Given the description of an element on the screen output the (x, y) to click on. 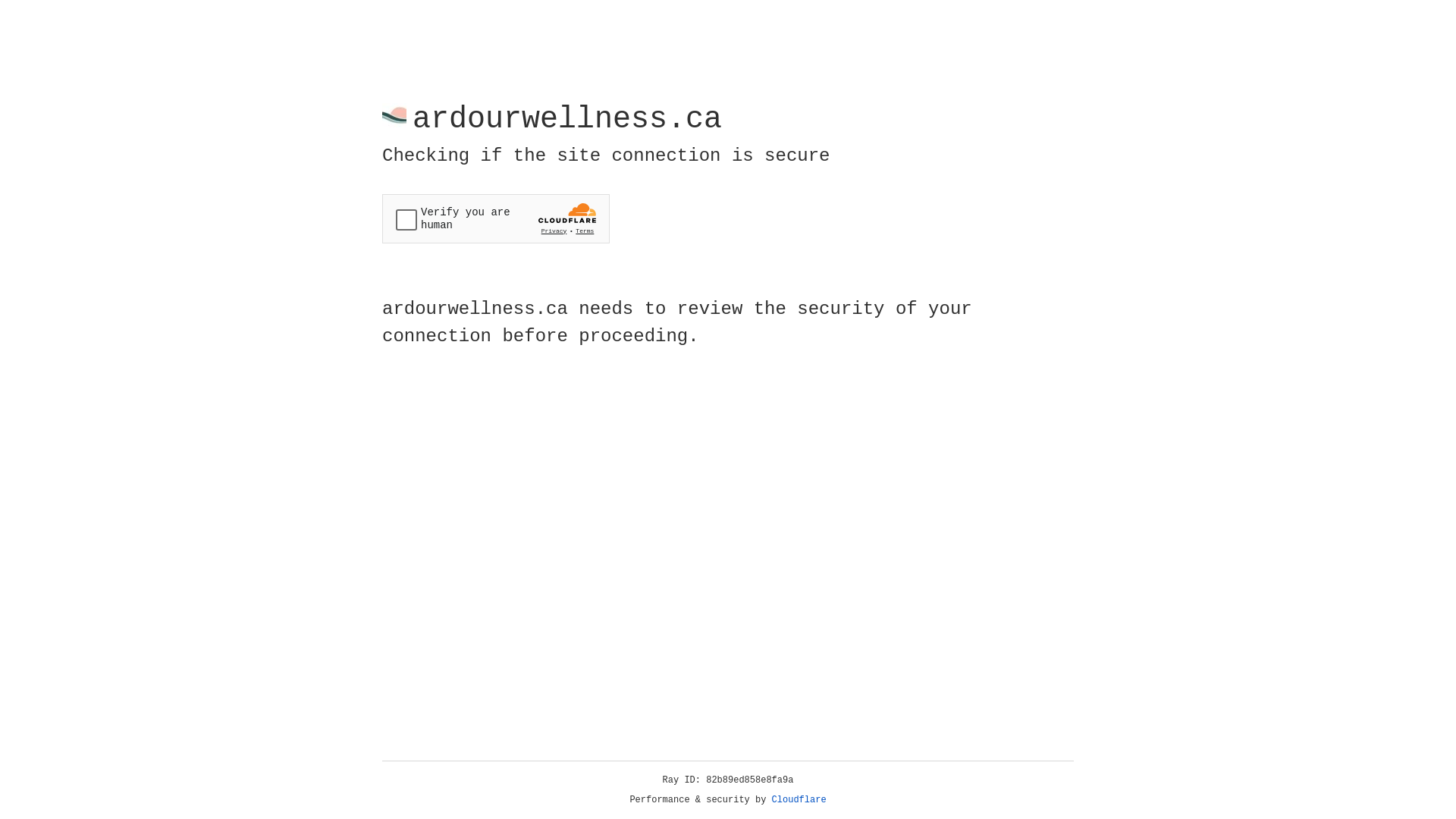
Widget containing a Cloudflare security challenge Element type: hover (495, 218)
Cloudflare Element type: text (798, 799)
